Given the description of an element on the screen output the (x, y) to click on. 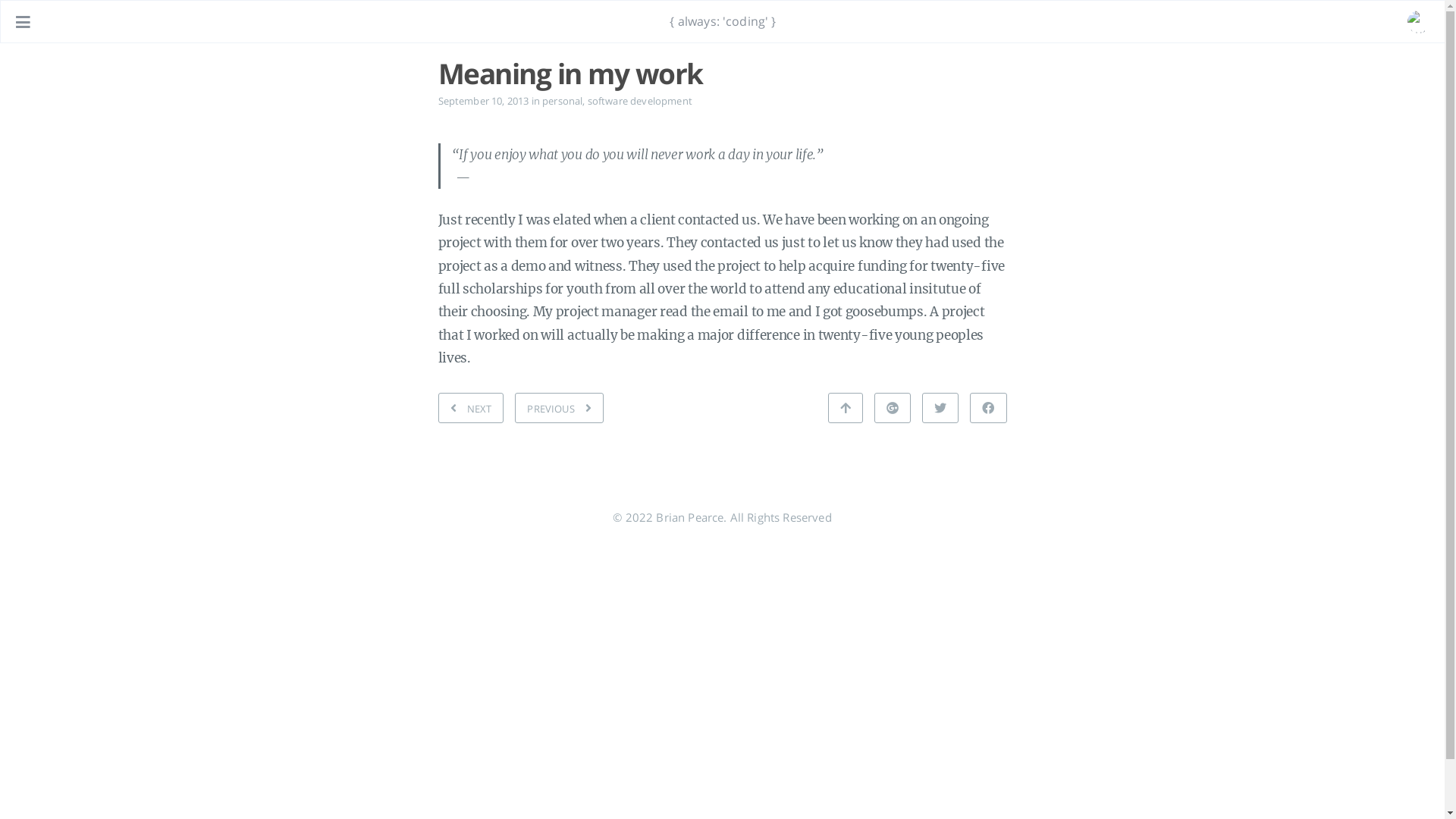
PREVIOUS Element type: text (558, 407)
personal Element type: text (562, 100)
Share on Google+ Element type: hover (892, 407)
Share on Twitter Element type: hover (940, 407)
Share on Facebook Element type: hover (987, 407)
software development Element type: text (639, 100)
NEXT Element type: text (471, 407)
